Given the description of an element on the screen output the (x, y) to click on. 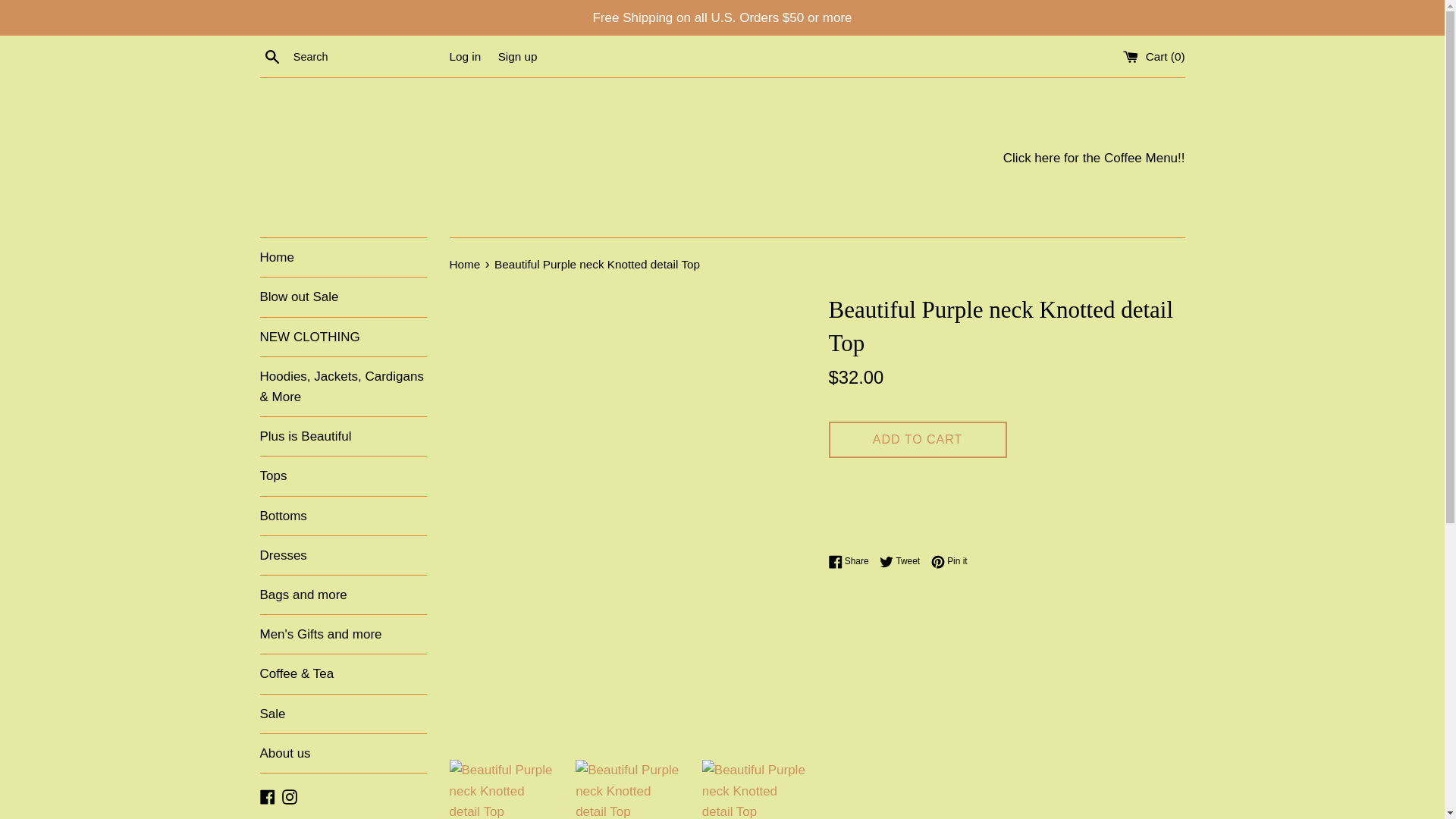
Tops (342, 475)
Home (465, 264)
Chic Skape on Facebook (267, 796)
About us (342, 753)
Home (342, 257)
Chic Skape on Instagram (289, 796)
Share on Facebook (852, 561)
Bags and more (342, 594)
Dresses (342, 555)
NEW CLOTHING (342, 336)
